Given the description of an element on the screen output the (x, y) to click on. 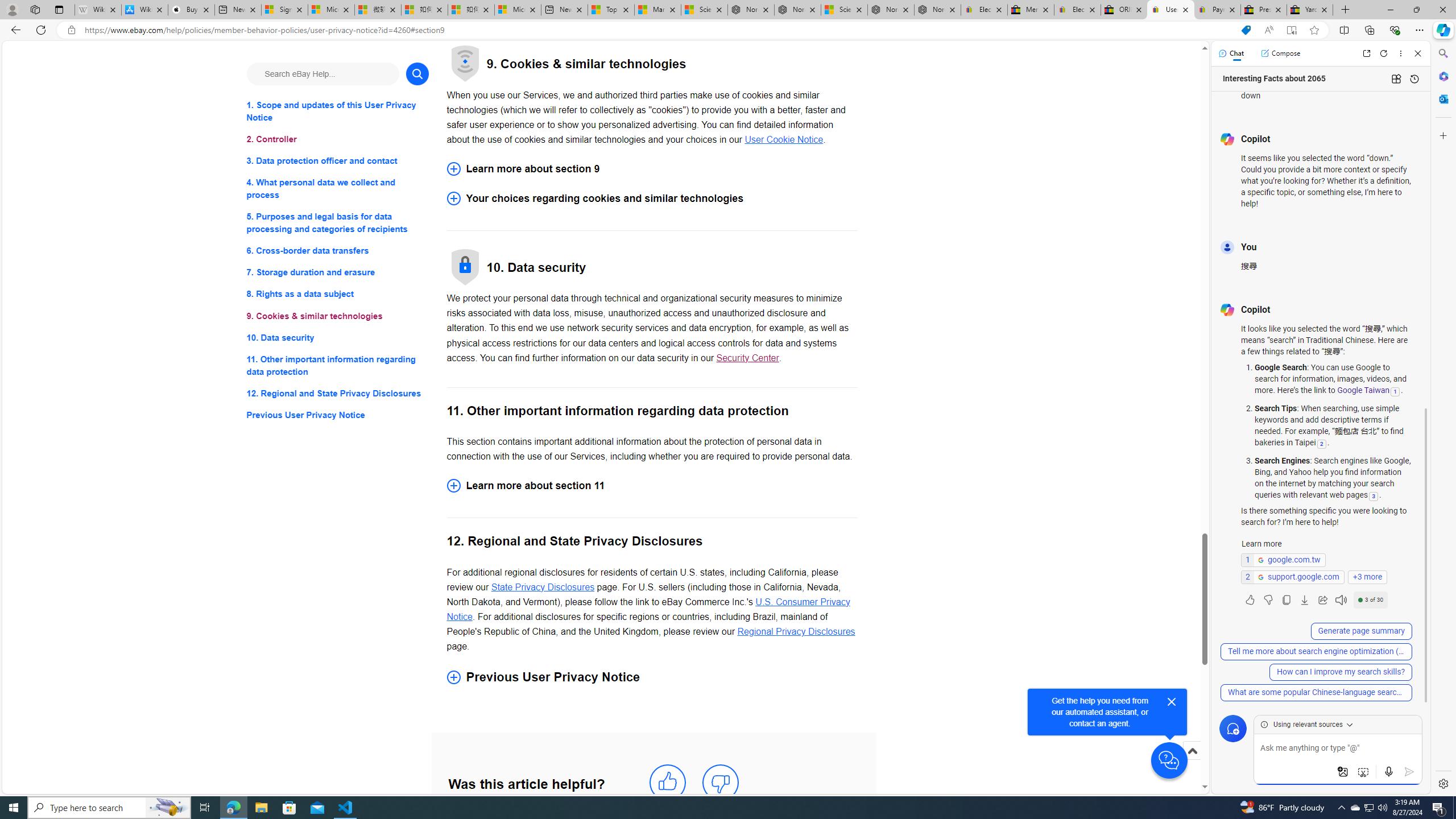
2. Controller (337, 138)
3. Data protection officer and contact (337, 160)
11. Other important information regarding data protection (337, 365)
Learn more about section 9 (651, 168)
Search eBay Help... (322, 73)
12. Regional and State Privacy Disclosures (337, 392)
8. Rights as a data subject (337, 293)
State Privacy Disclosures - opens in new window or tab (542, 586)
